Given the description of an element on the screen output the (x, y) to click on. 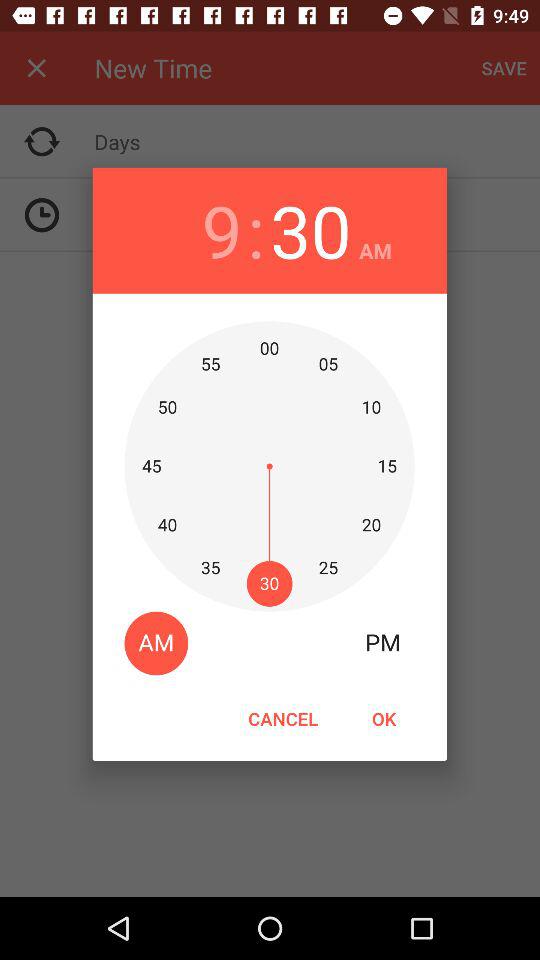
launch cancel at the bottom (283, 718)
